Given the description of an element on the screen output the (x, y) to click on. 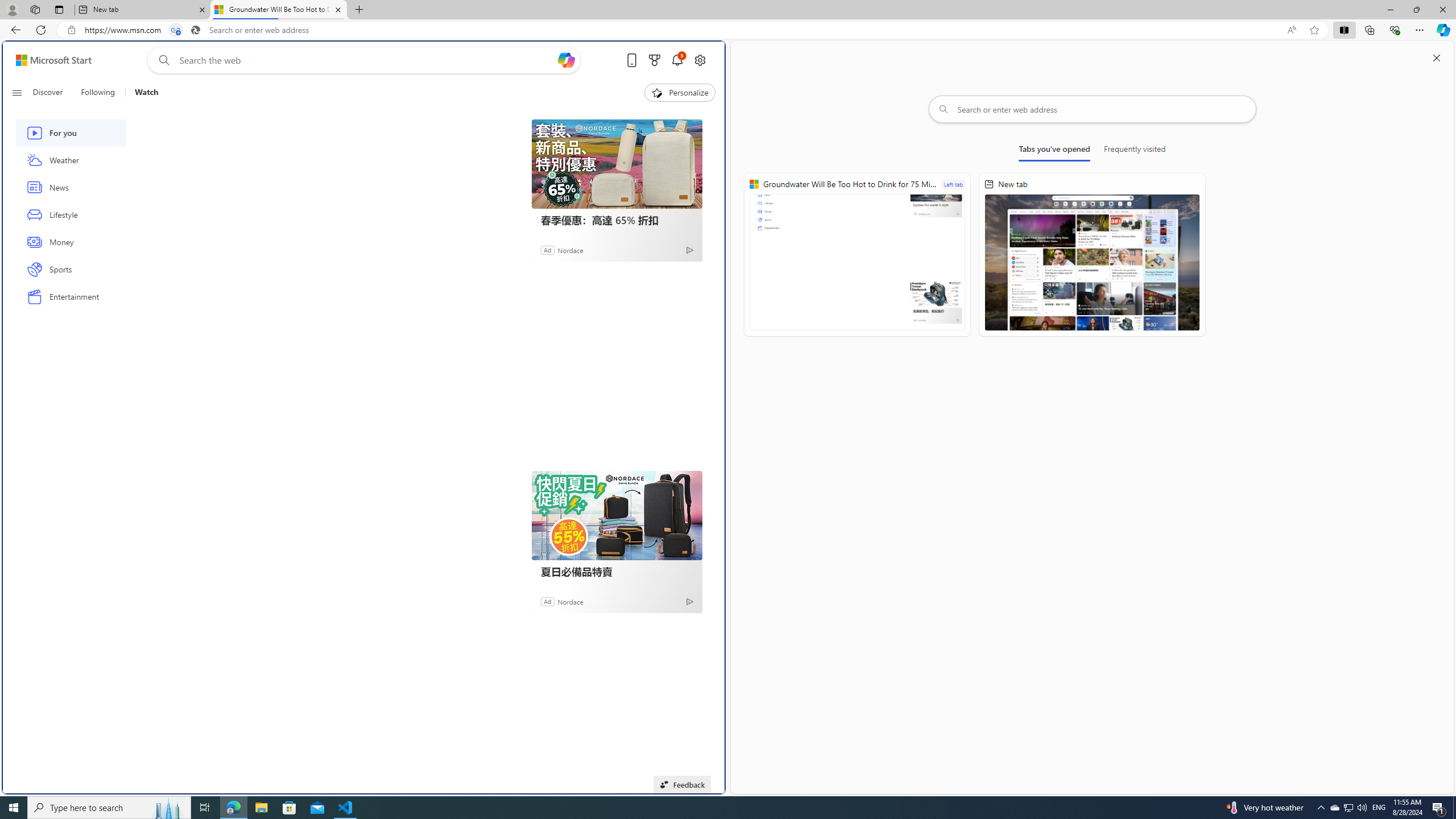
To get missing image descriptions, open the context menu. (656, 92)
Following (97, 92)
Skip to footer (46, 59)
Microsoft Start (53, 60)
Open Copilot (566, 59)
Open navigation menu (16, 92)
Notifications (676, 60)
Watch (141, 92)
Search icon (195, 29)
